Given the description of an element on the screen output the (x, y) to click on. 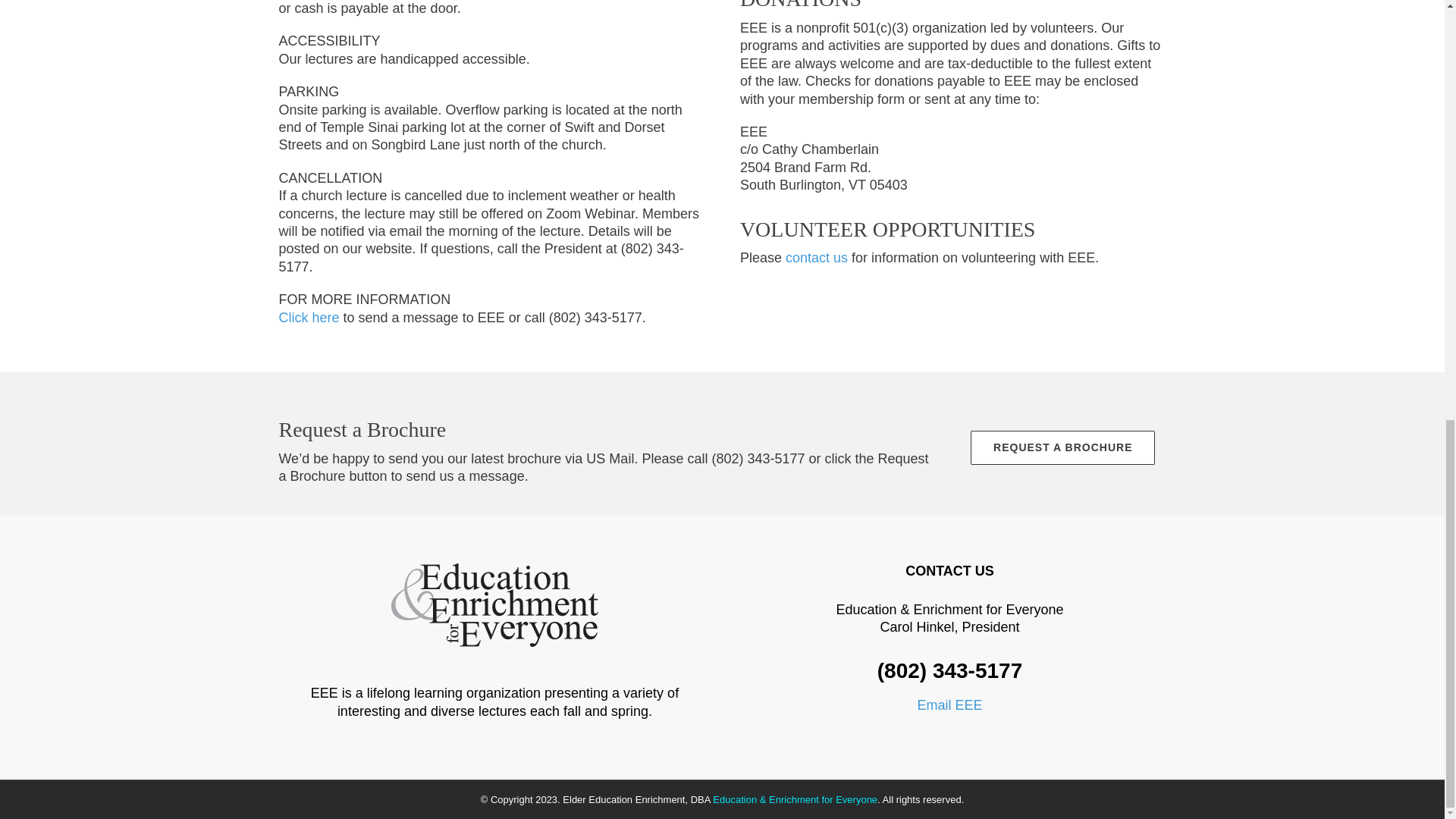
contact us (816, 257)
REQUEST A BROCHURE (1062, 447)
Click here (309, 317)
Email EEE (949, 704)
